Given the description of an element on the screen output the (x, y) to click on. 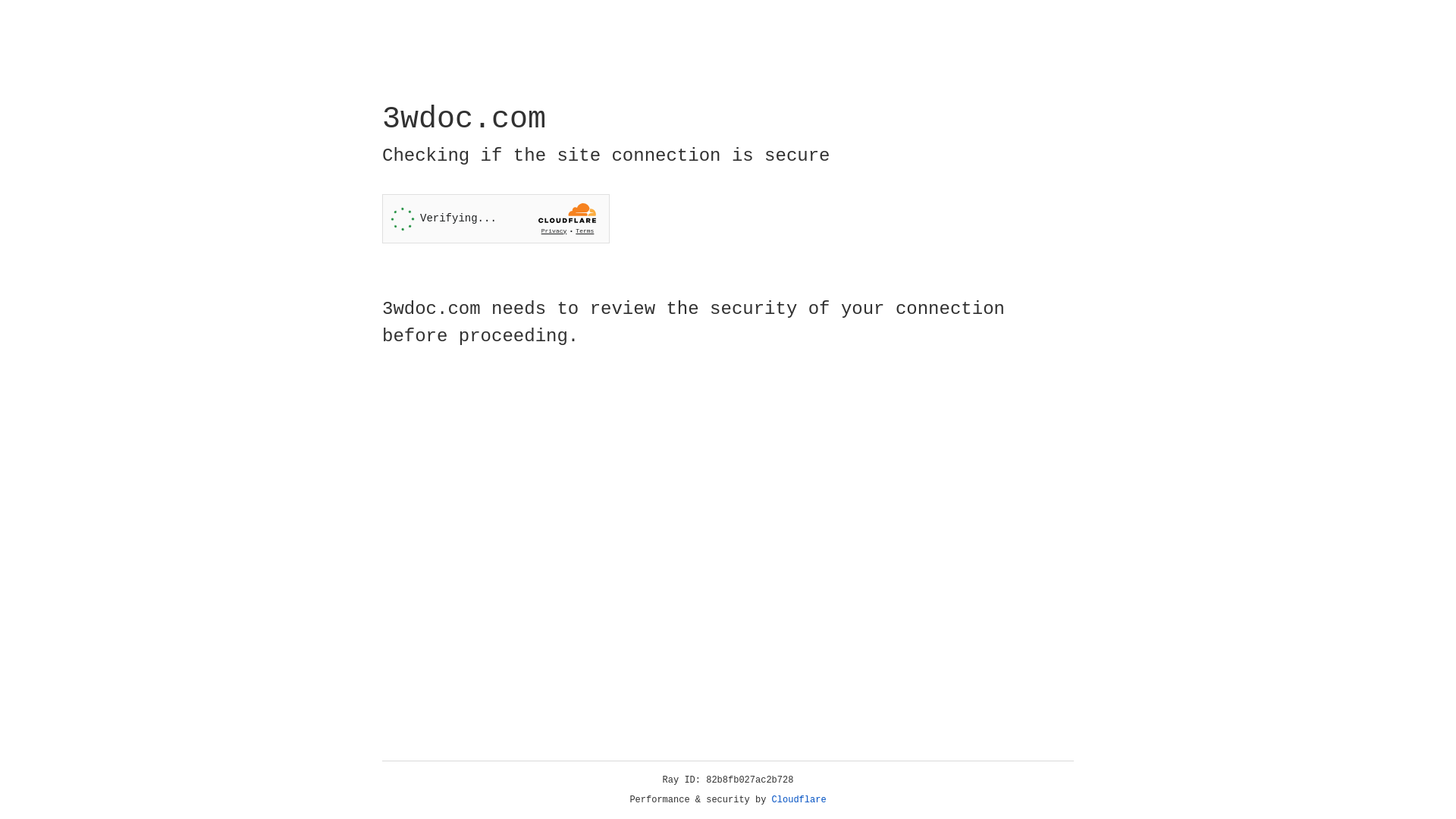
Cloudflare Element type: text (798, 799)
Widget containing a Cloudflare security challenge Element type: hover (495, 218)
